Given the description of an element on the screen output the (x, y) to click on. 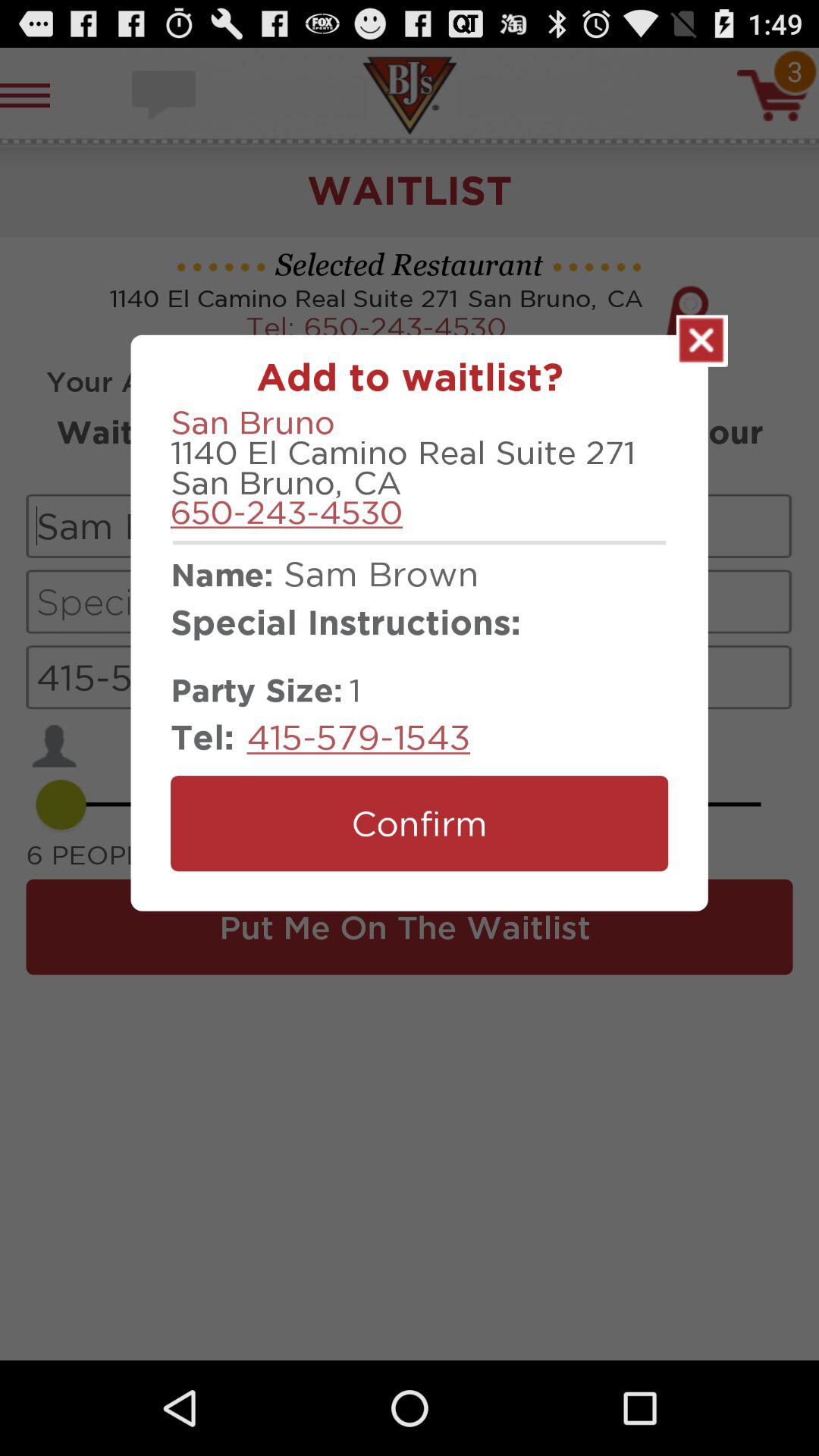
turn off the 650-243-4530 item (286, 511)
